Given the description of an element on the screen output the (x, y) to click on. 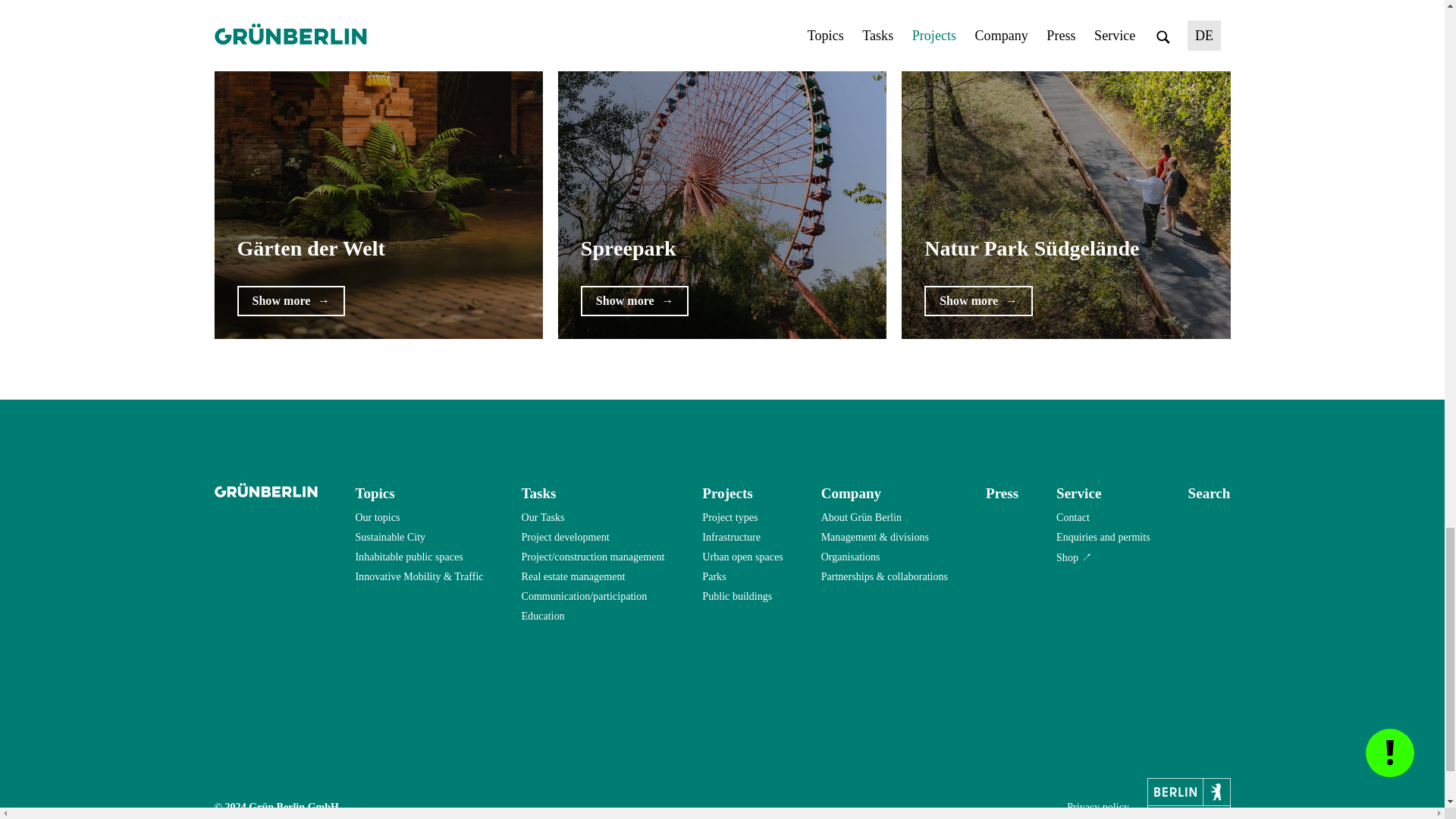
Organisations (850, 557)
Our topics (376, 517)
Tasks (538, 492)
Our Tasks (542, 517)
Show more (978, 300)
Parks (713, 577)
Our Tasks (542, 517)
Inhabitable public spaces (409, 557)
Education (542, 616)
Show more (634, 300)
Sustainable City (390, 537)
Service (1078, 492)
Project development (565, 537)
Show more (290, 300)
Urban open spaces (742, 557)
